Given the description of an element on the screen output the (x, y) to click on. 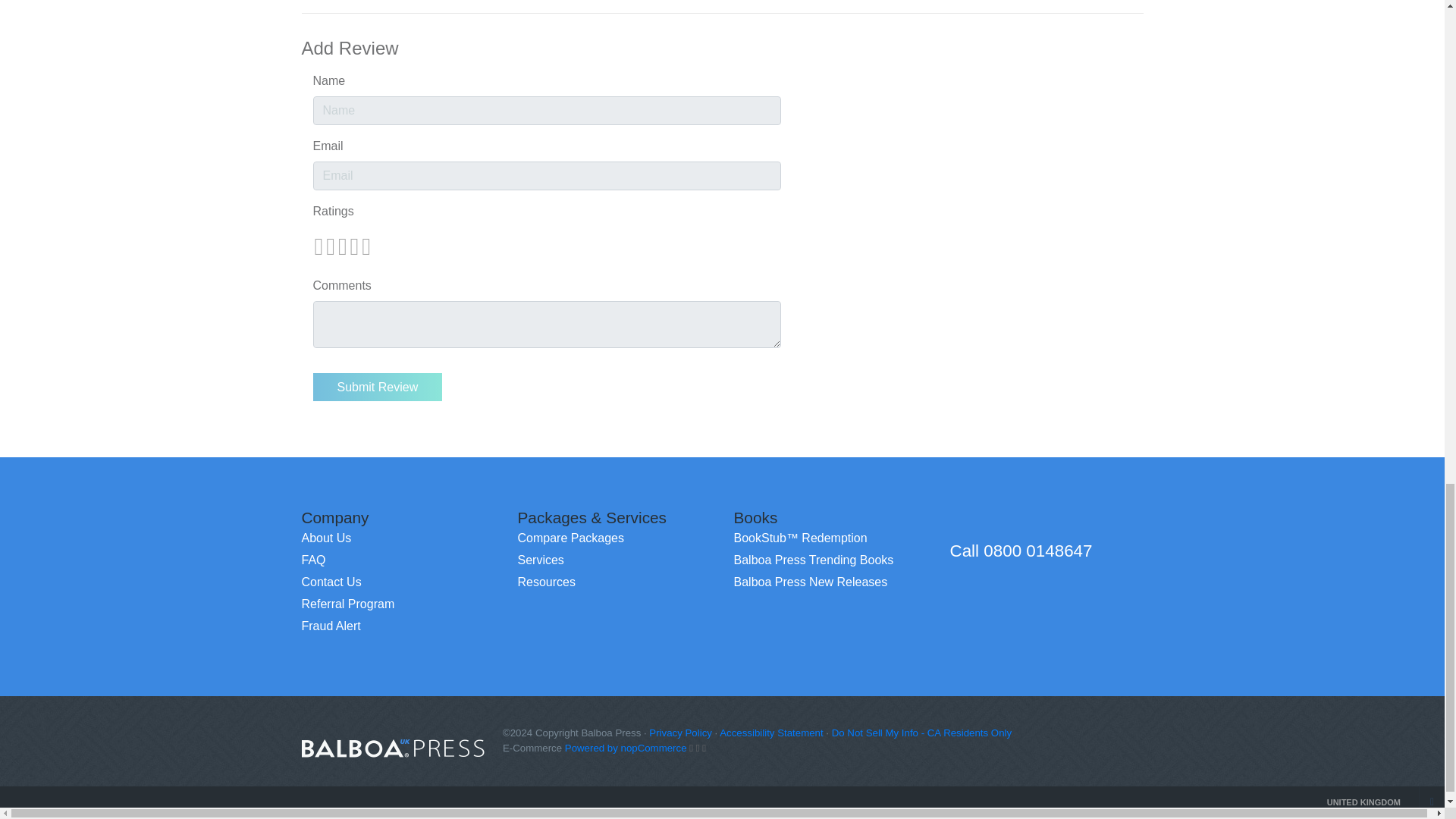
Submit Review (377, 387)
Services (539, 559)
Balboa Press New Releases (810, 581)
Referral Program (347, 603)
Do Not Sell My Info - CA Residents Only (921, 732)
Resources (545, 581)
Powered by nopCommerce (625, 747)
About Us (326, 537)
Contact Us (331, 581)
Accessibility Statement (770, 732)
